Given the description of an element on the screen output the (x, y) to click on. 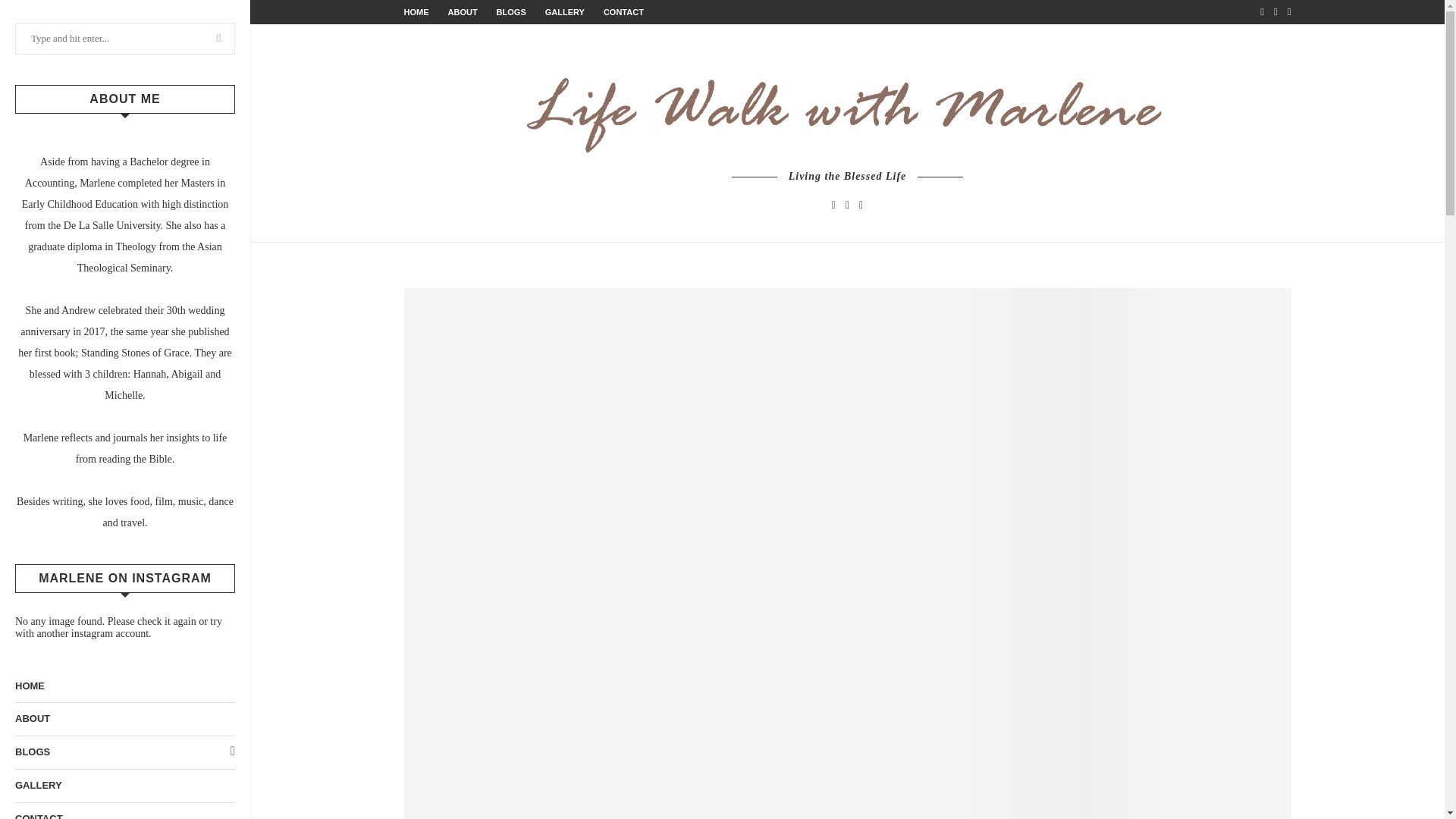
ABOUT (461, 11)
CONTACT (124, 811)
BLOGS (510, 11)
ABOUT (124, 718)
GALLERY (564, 11)
CONTACT (623, 11)
GALLERY (124, 785)
HOME (415, 11)
BLOGS (124, 752)
